Given the description of an element on the screen output the (x, y) to click on. 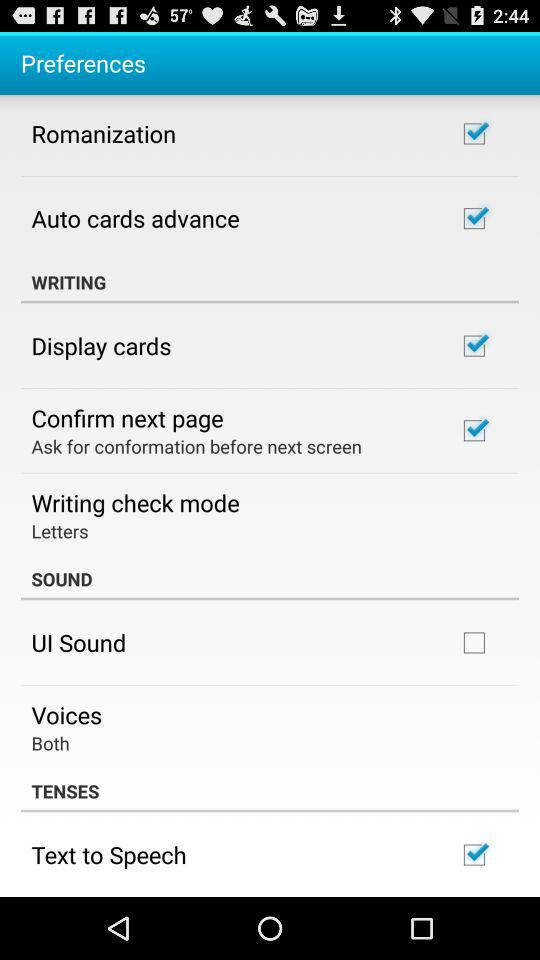
turn off the icon above letters app (135, 502)
